Given the description of an element on the screen output the (x, y) to click on. 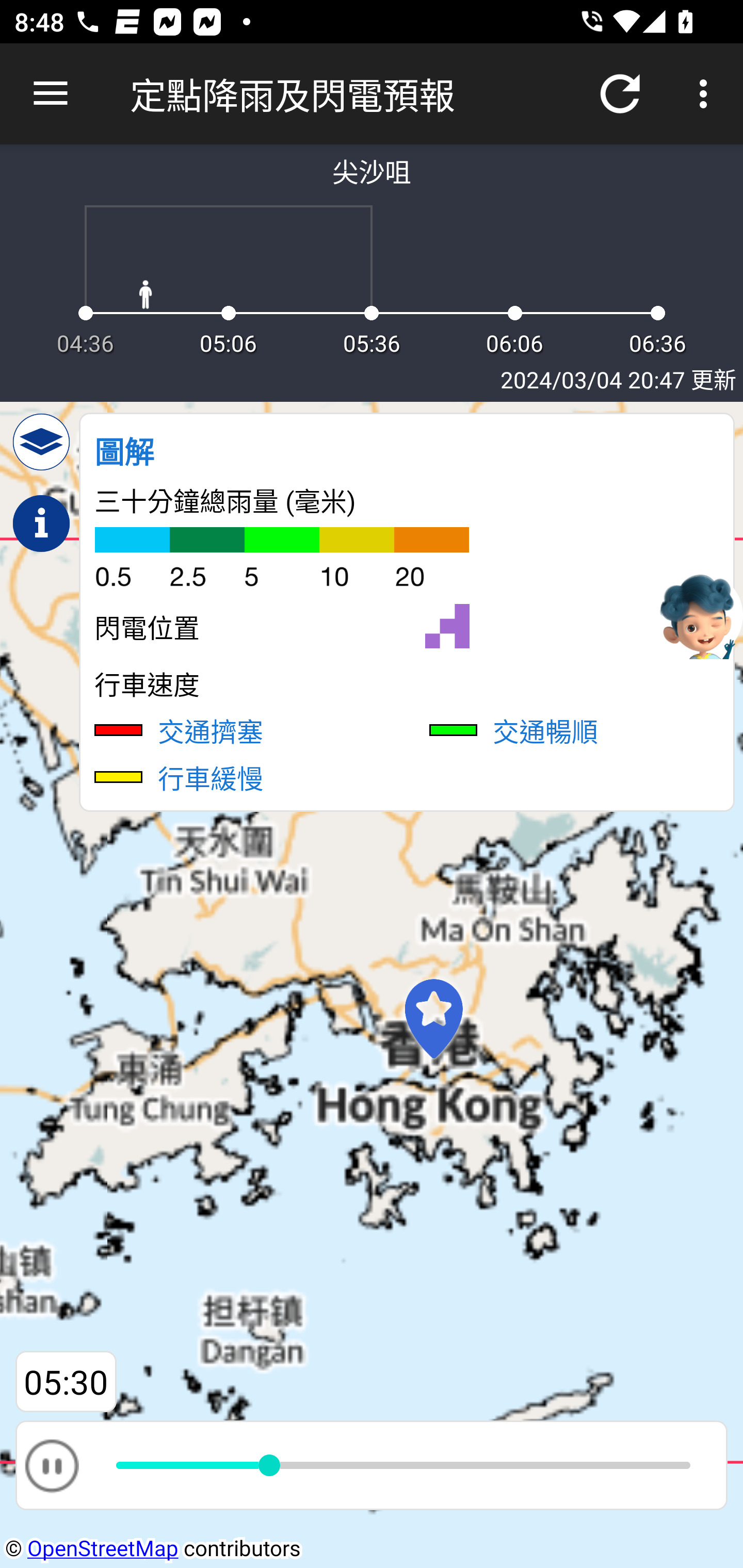
向上瀏覽 (50, 93)
重新整理 (619, 93)
更多選項 (706, 93)
選擇 圖層 (40, 441)
圖解 三十分鐘總雨量 (毫米) 降雨圖解 閃電位置 行車速度 交通擠塞 交通暢順 行車緩慢 (406, 612)
已選擇 說明 (40, 523)
聊天機械人 (699, 614)
05:30 (65, 1381)
暫停 4.0 (371, 1464)
暫停 (50, 1464)
